Given the description of an element on the screen output the (x, y) to click on. 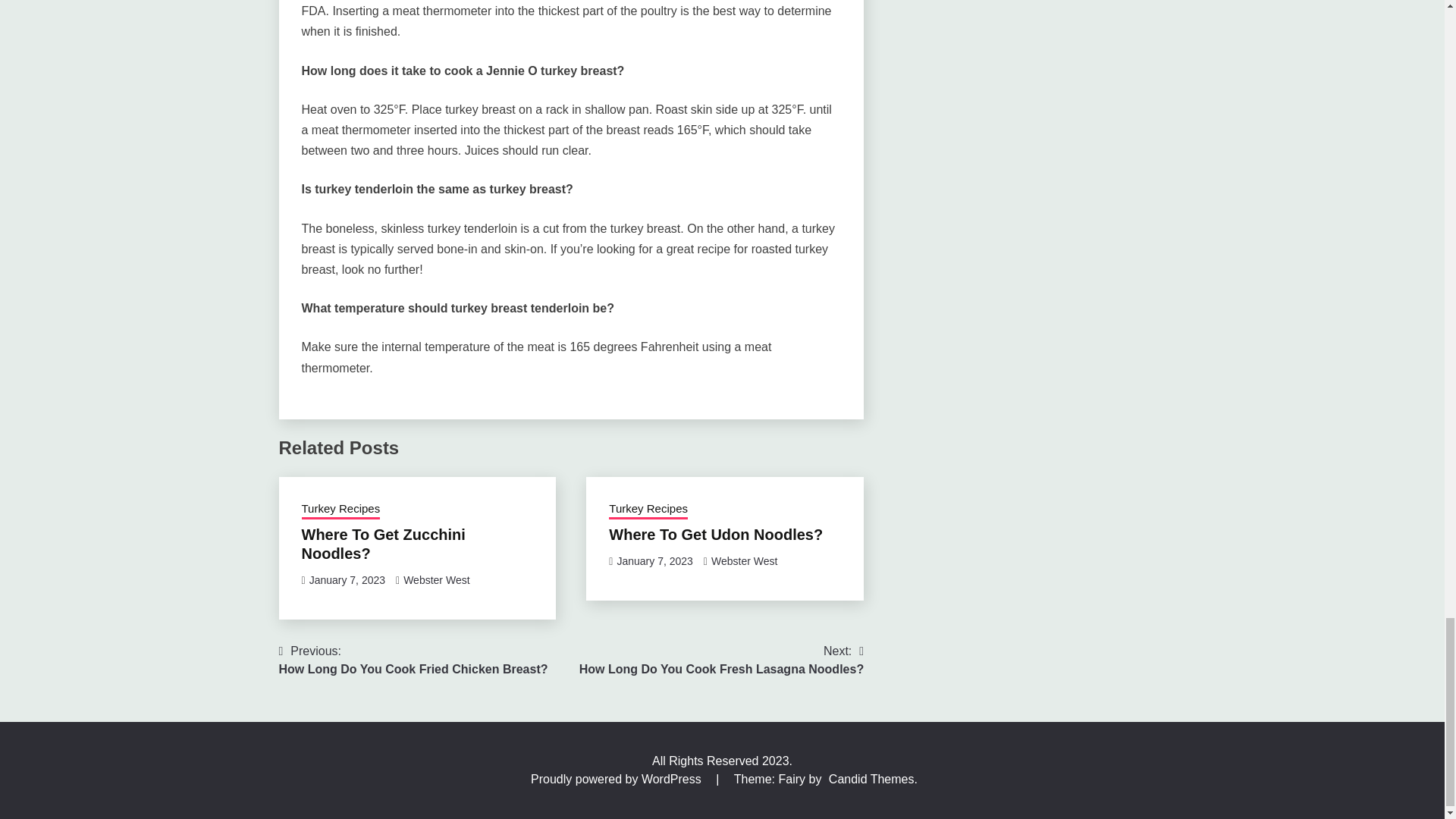
Turkey Recipes (721, 660)
January 7, 2023 (340, 509)
Webster West (346, 580)
Where To Get Zucchini Noodles? (744, 561)
Turkey Recipes (383, 543)
Webster West (647, 509)
January 7, 2023 (435, 580)
Where To Get Udon Noodles? (654, 561)
